Given the description of an element on the screen output the (x, y) to click on. 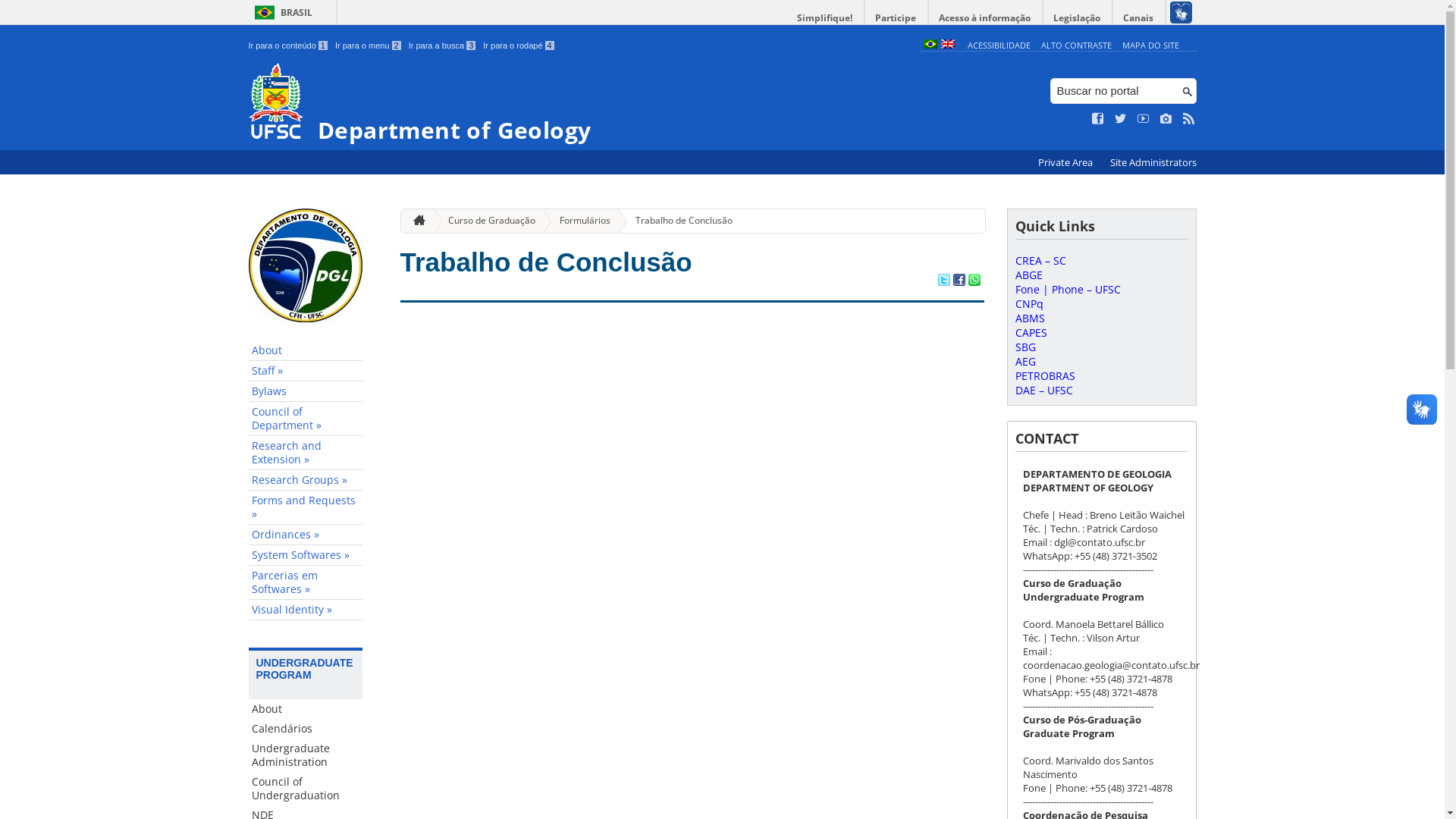
ALTO CONTRASTE Element type: text (1076, 44)
CAPES Element type: text (1030, 332)
Simplifique! Element type: text (825, 18)
Undergraduate Administration Element type: text (305, 754)
ABGE Element type: text (1027, 274)
ABMS Element type: text (1029, 317)
Compartilhar no WhatsApp Element type: hover (973, 280)
Bylaws Element type: text (305, 391)
Veja no Instagram Element type: hover (1166, 118)
About Element type: text (305, 708)
PETROBRAS Element type: text (1044, 375)
Siga no Twitter Element type: hover (1120, 118)
Compartilhar no Twitter Element type: hover (943, 280)
Curta no Facebook Element type: hover (1098, 118)
Canais Element type: text (1138, 18)
About Element type: text (305, 350)
Private Area Element type: text (1065, 162)
MAPA DO SITE Element type: text (1150, 44)
Ir para a busca 3 Element type: text (442, 45)
AEG Element type: text (1024, 361)
ACESSIBILIDADE Element type: text (998, 44)
CNPq Element type: text (1028, 303)
Ir para o menu 2 Element type: text (368, 45)
Participe Element type: text (895, 18)
Compartilhar no Facebook Element type: hover (958, 280)
BRASIL Element type: text (280, 12)
English (en) Element type: hover (946, 44)
Council of Undergraduation Element type: text (305, 788)
Site Administrators Element type: text (1153, 162)
SBG Element type: text (1024, 346)
Department of Geology Element type: text (580, 102)
